Given the description of an element on the screen output the (x, y) to click on. 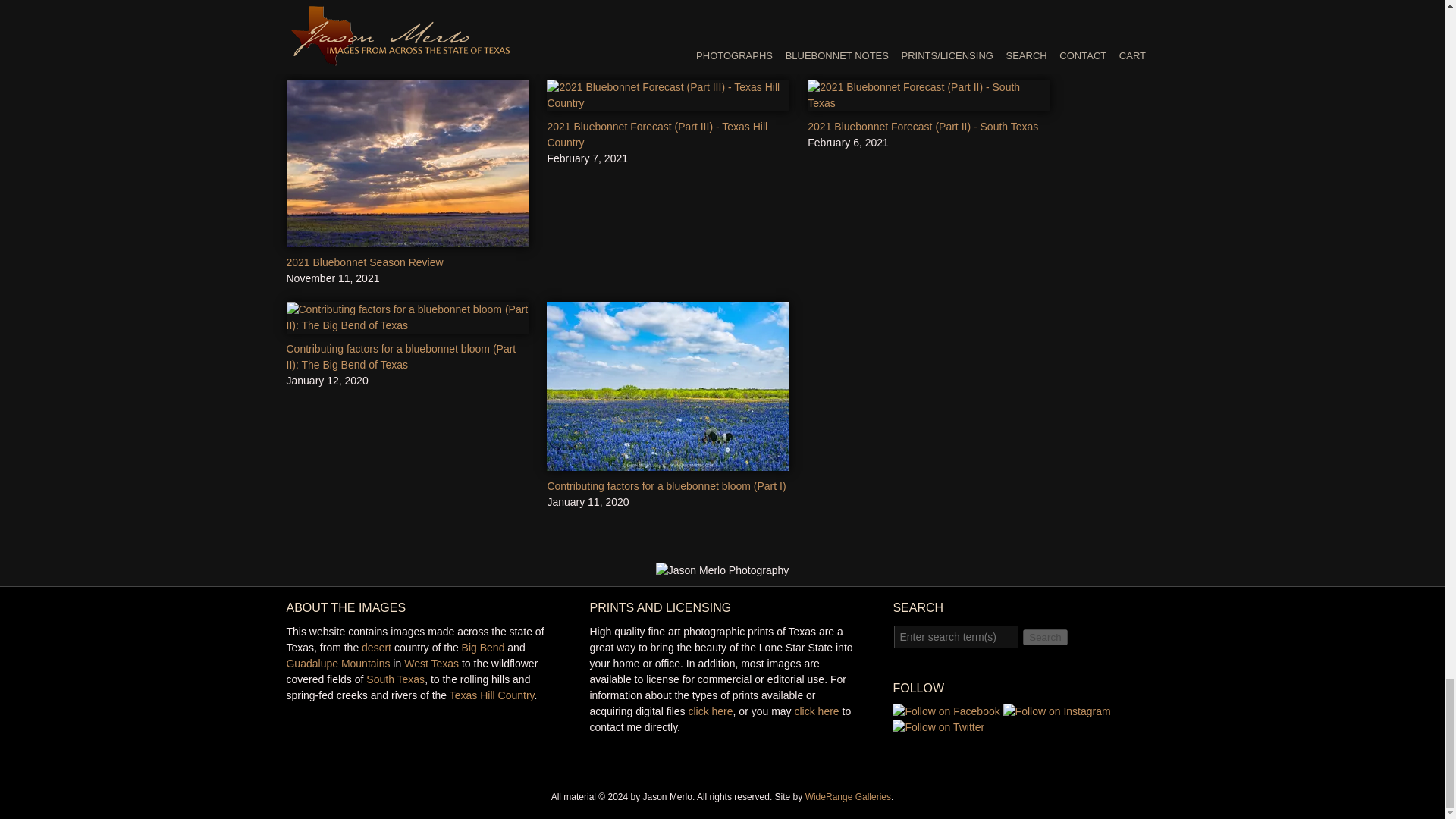
Follow on Facebook (945, 711)
Follow on Instagram (1056, 711)
Follow on Twitter (938, 727)
